Given the description of an element on the screen output the (x, y) to click on. 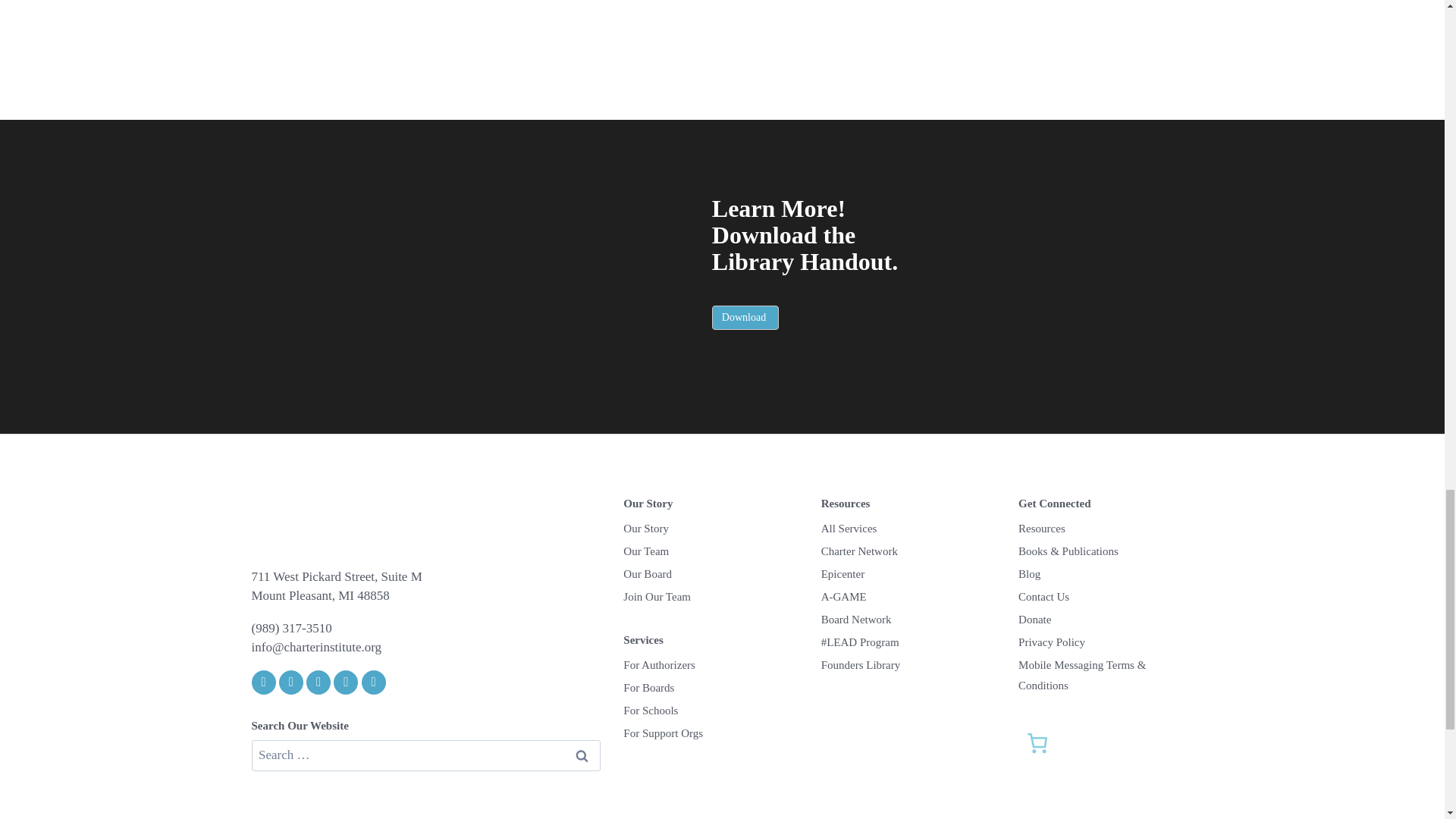
Search (580, 755)
Search (580, 755)
